Given the description of an element on the screen output the (x, y) to click on. 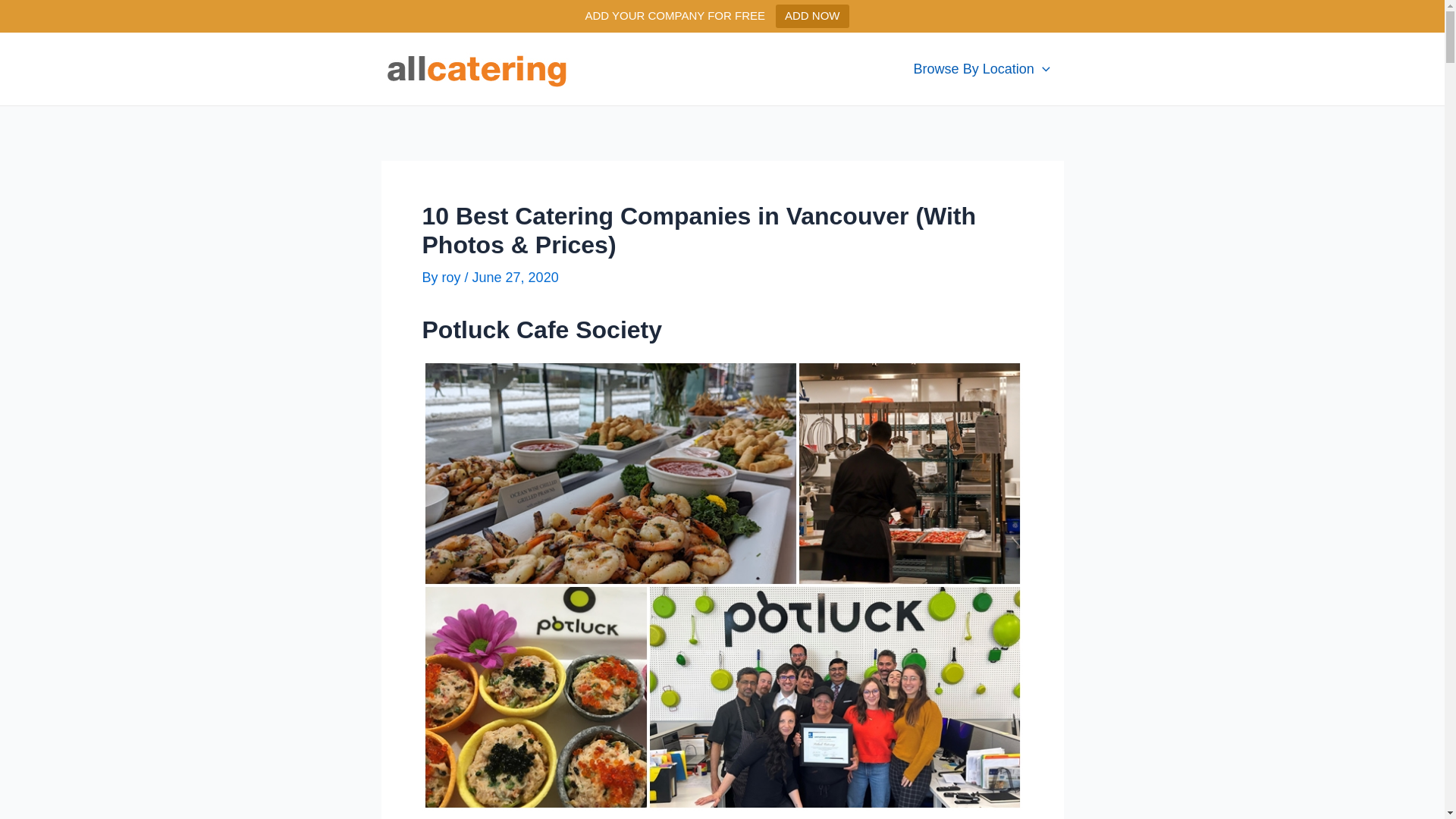
roy Element type: text (453, 277)
Browse By Location Element type: text (981, 68)
ADD NOW Element type: text (812, 16)
